Given the description of an element on the screen output the (x, y) to click on. 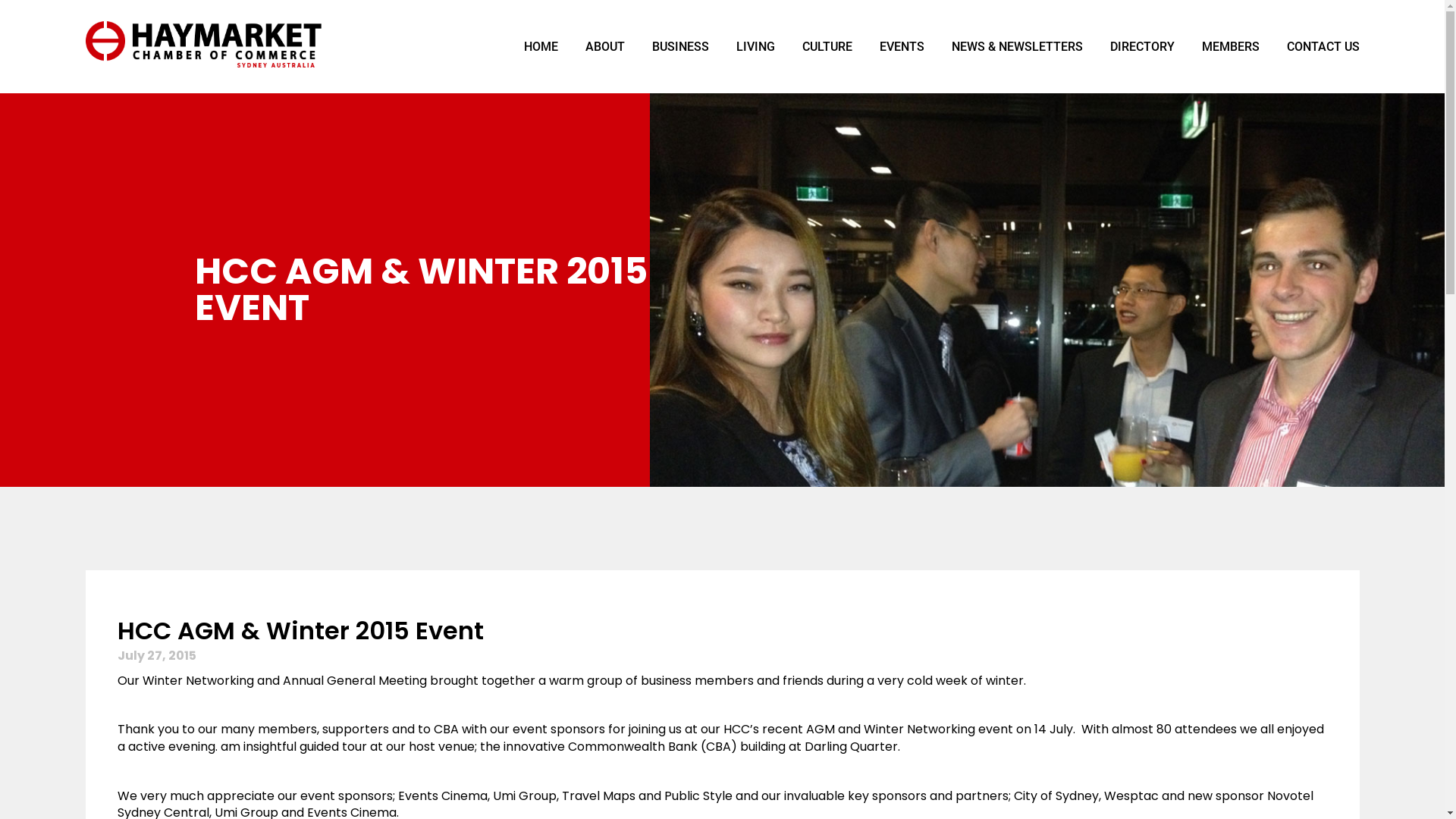
LIVING Element type: text (754, 46)
HOME Element type: text (540, 46)
NEWS & NEWSLETTERS Element type: text (1016, 46)
DIRECTORY Element type: text (1142, 46)
EVENTS Element type: text (902, 46)
BUSINESS Element type: text (680, 46)
CULTURE Element type: text (827, 46)
CONTACT US Element type: text (1315, 46)
MEMBERS Element type: text (1229, 46)
ABOUT Element type: text (604, 46)
